Given the description of an element on the screen output the (x, y) to click on. 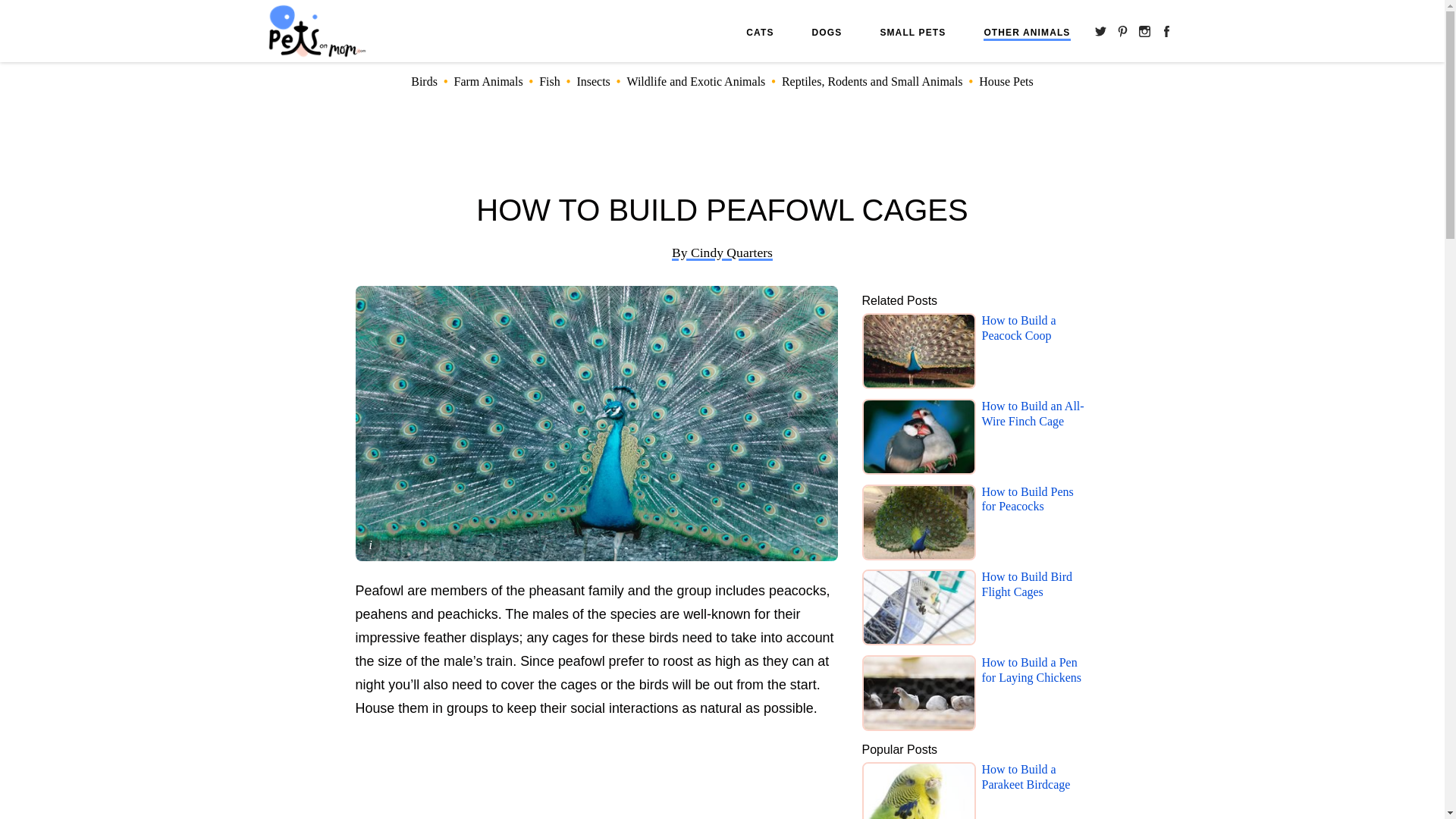
Reptiles, Rodents and Small Animals (871, 81)
CATS (759, 32)
DOGS (827, 32)
SMALL PETS (911, 32)
Fish (549, 81)
OTHER ANIMALS (1027, 33)
House Pets (1005, 81)
Insects (593, 81)
Wildlife and Exotic Animals (695, 81)
Advertisement (596, 779)
